Given the description of an element on the screen output the (x, y) to click on. 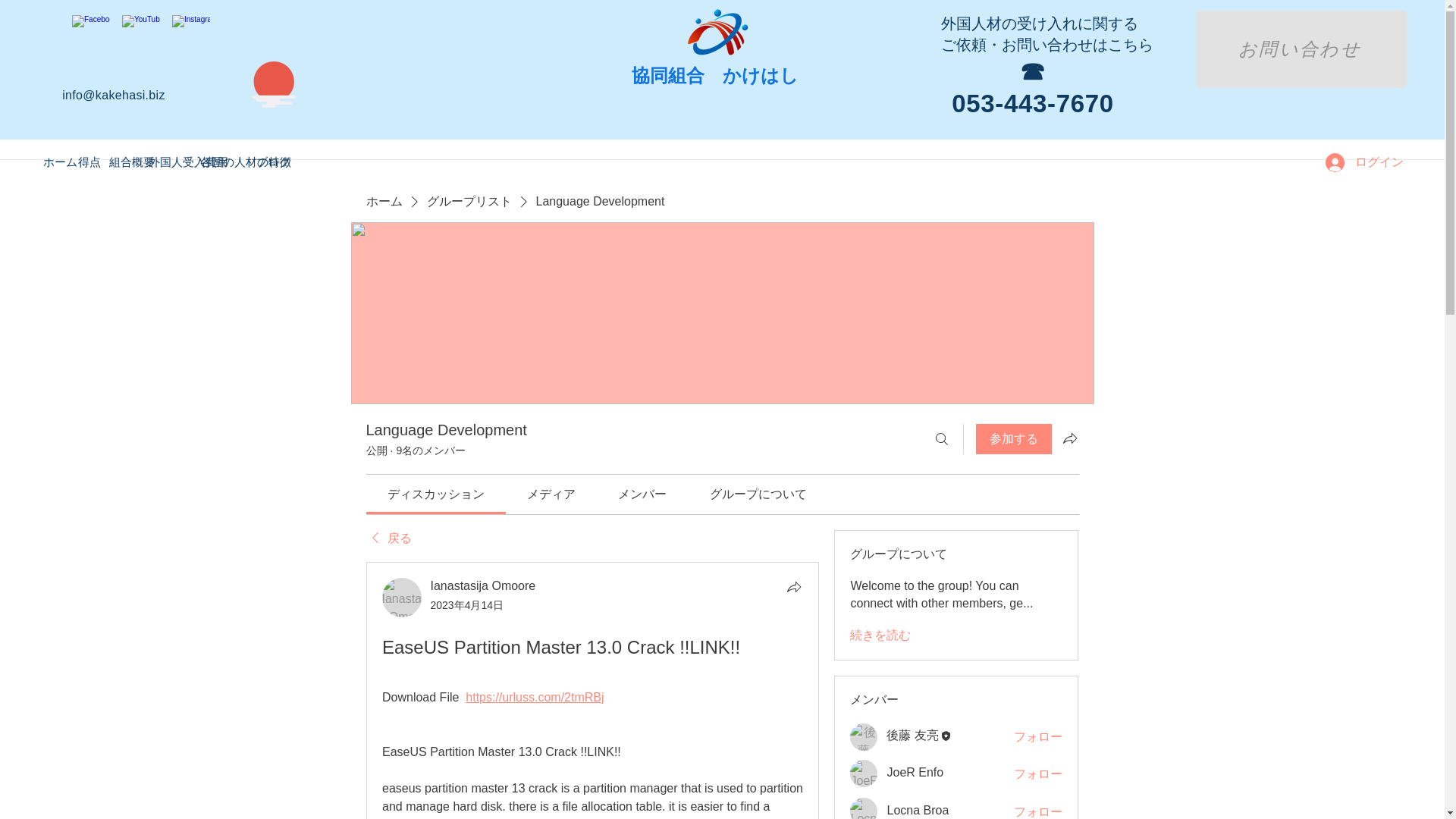
Locna Broa (863, 808)
JoeR Enfo (863, 773)
Ianastasija Omoore (401, 597)
